Given the description of an element on the screen output the (x, y) to click on. 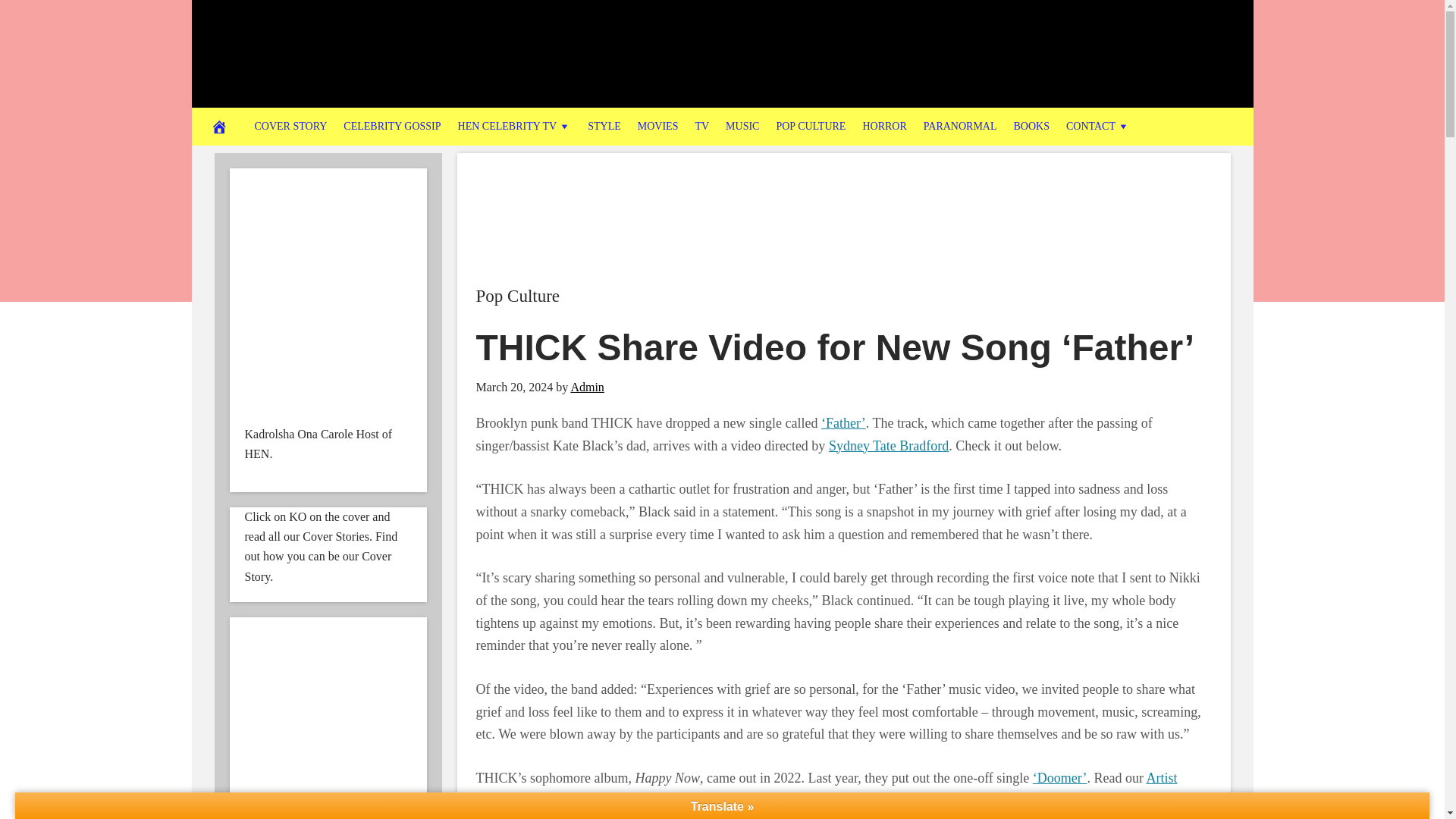
HEN CELEBRITY TV (514, 126)
STYLE (603, 126)
COVER STORY (290, 126)
MOVIES (657, 126)
CELEBRITY GOSSIP (391, 126)
Pop Culture (518, 295)
TV (701, 126)
